Given the description of an element on the screen output the (x, y) to click on. 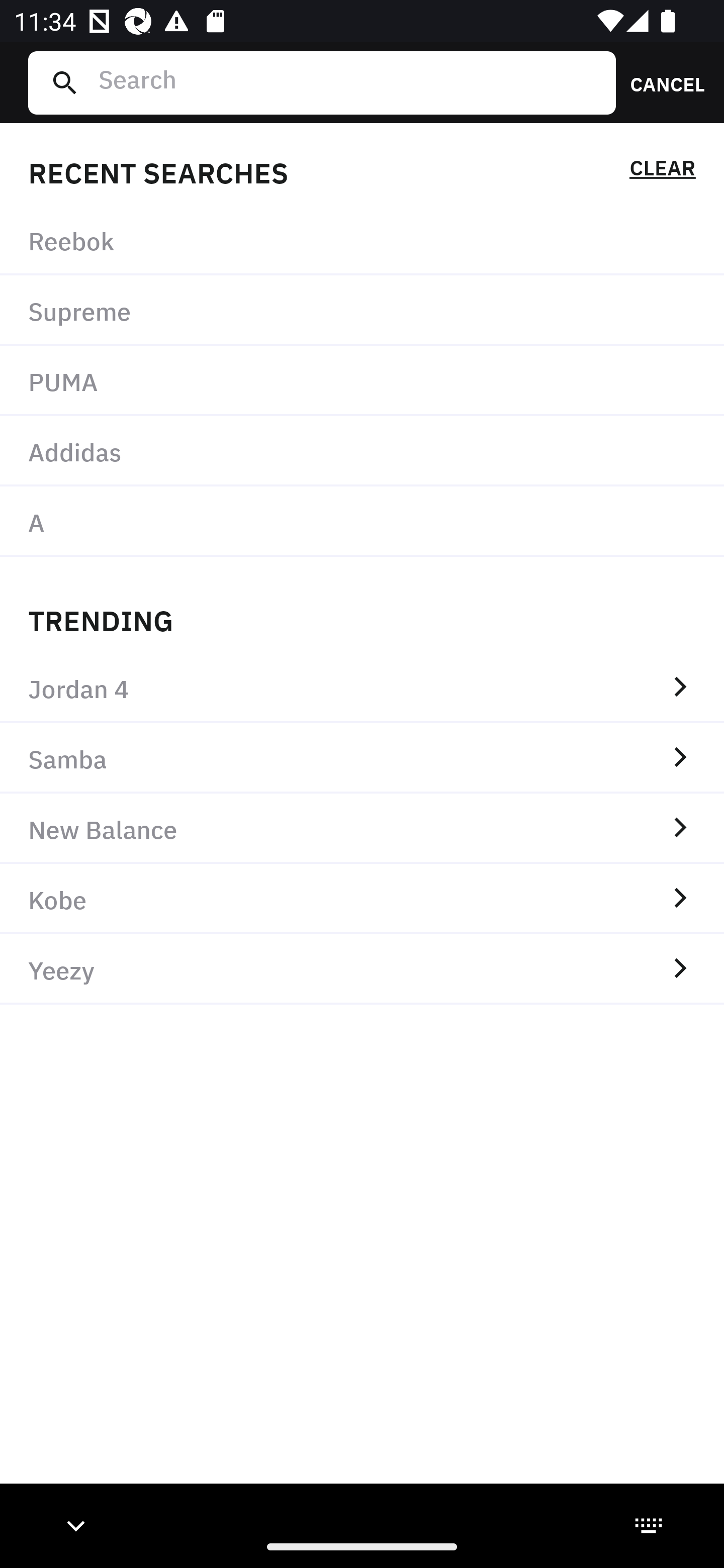
CANCEL (660, 82)
Search (349, 82)
CLEAR (662, 170)
Reebok (362, 240)
Supreme (362, 310)
PUMA (362, 380)
Addidas (362, 450)
A (362, 521)
Jordan 4  (362, 687)
Samba  (362, 757)
New Balance  (362, 828)
Kobe  (362, 898)
Yeezy  (362, 969)
